Given the description of an element on the screen output the (x, y) to click on. 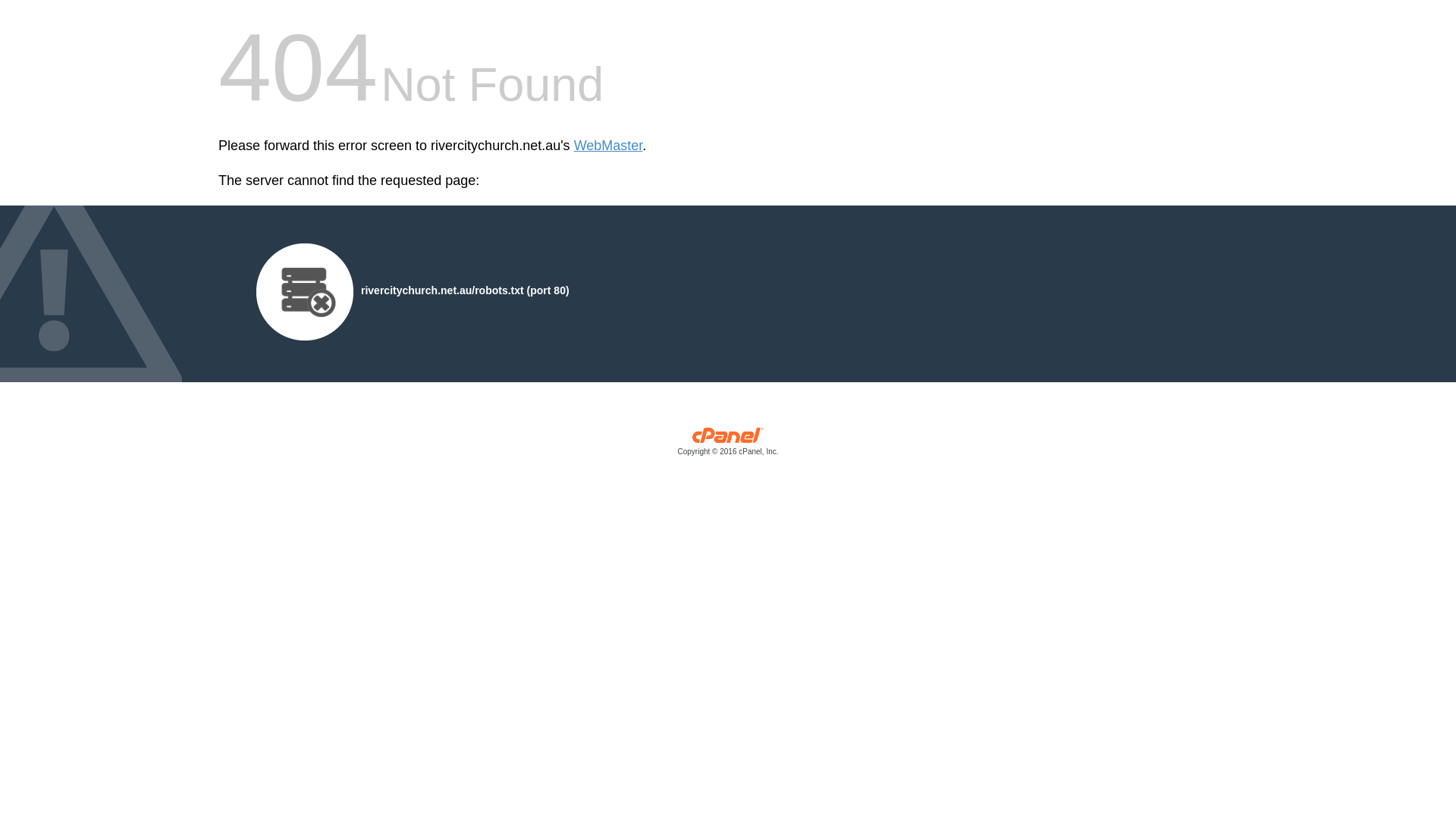
WebMaster Element type: text (608, 145)
